Given the description of an element on the screen output the (x, y) to click on. 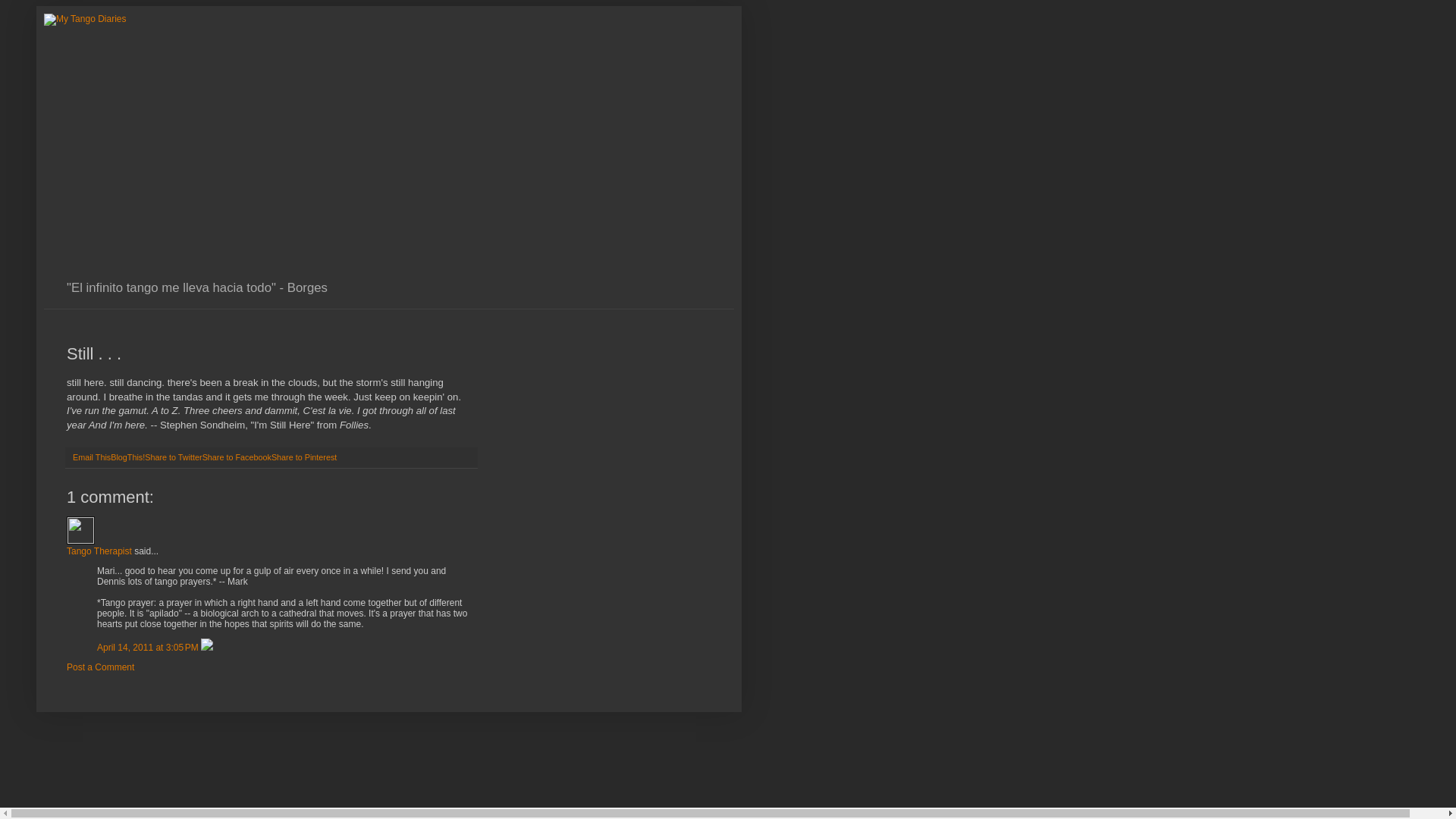
Post a Comment (99, 666)
Share to Pinterest (303, 456)
BlogThis! (127, 456)
BlogThis! (127, 456)
Tango Therapist (80, 530)
Email This (91, 456)
Share to Facebook (236, 456)
Share to Pinterest (303, 456)
Share to Twitter (173, 456)
